Given the description of an element on the screen output the (x, y) to click on. 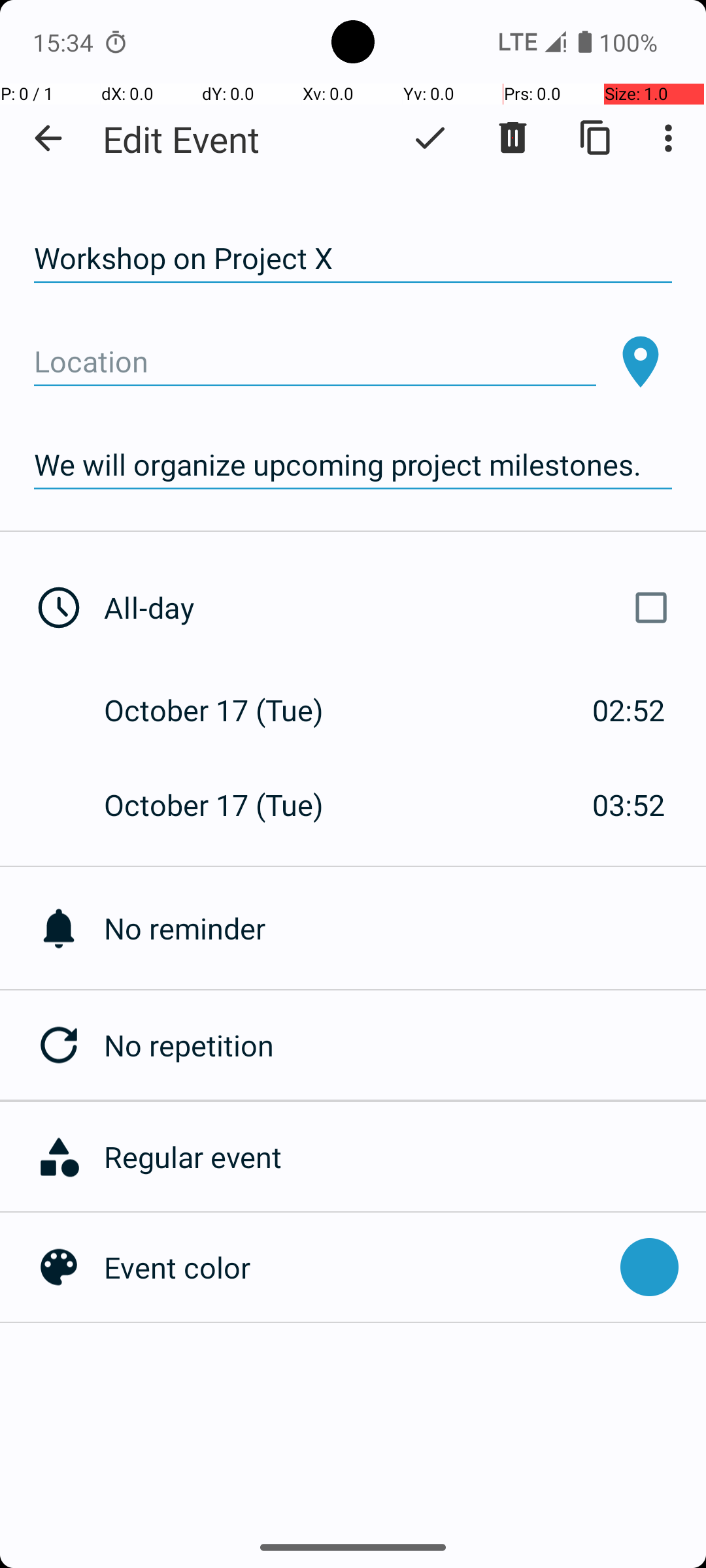
We will organize upcoming project milestones. Element type: android.widget.EditText (352, 465)
October 17 (Tue) Element type: android.widget.TextView (227, 709)
02:52 Element type: android.widget.TextView (628, 709)
03:52 Element type: android.widget.TextView (628, 804)
